Given the description of an element on the screen output the (x, y) to click on. 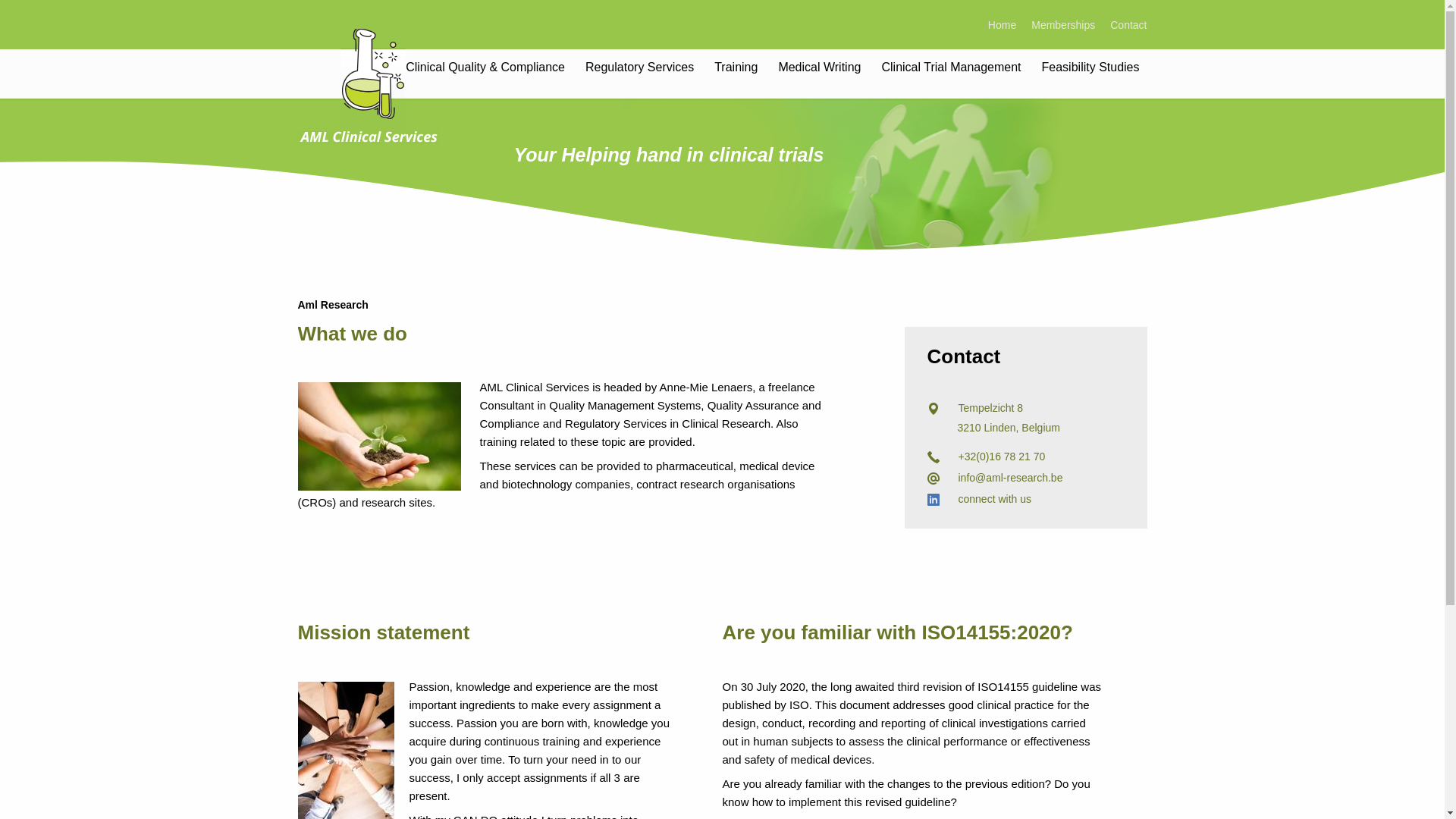
Home Element type: text (994, 24)
connect with us Element type: text (995, 498)
Clinical Quality & Compliance Element type: text (484, 66)
Contact Element type: text (1120, 24)
Clinical Trial Management Element type: text (950, 66)
Memberships Element type: text (1055, 24)
Regulatory Services Element type: text (639, 66)
Feasibility Studies Element type: text (1090, 66)
info@aml-research.be Element type: text (1010, 477)
Medical Writing Element type: text (819, 66)
Skip to main content Element type: text (48, 0)
Training Element type: text (735, 66)
